Given the description of an element on the screen output the (x, y) to click on. 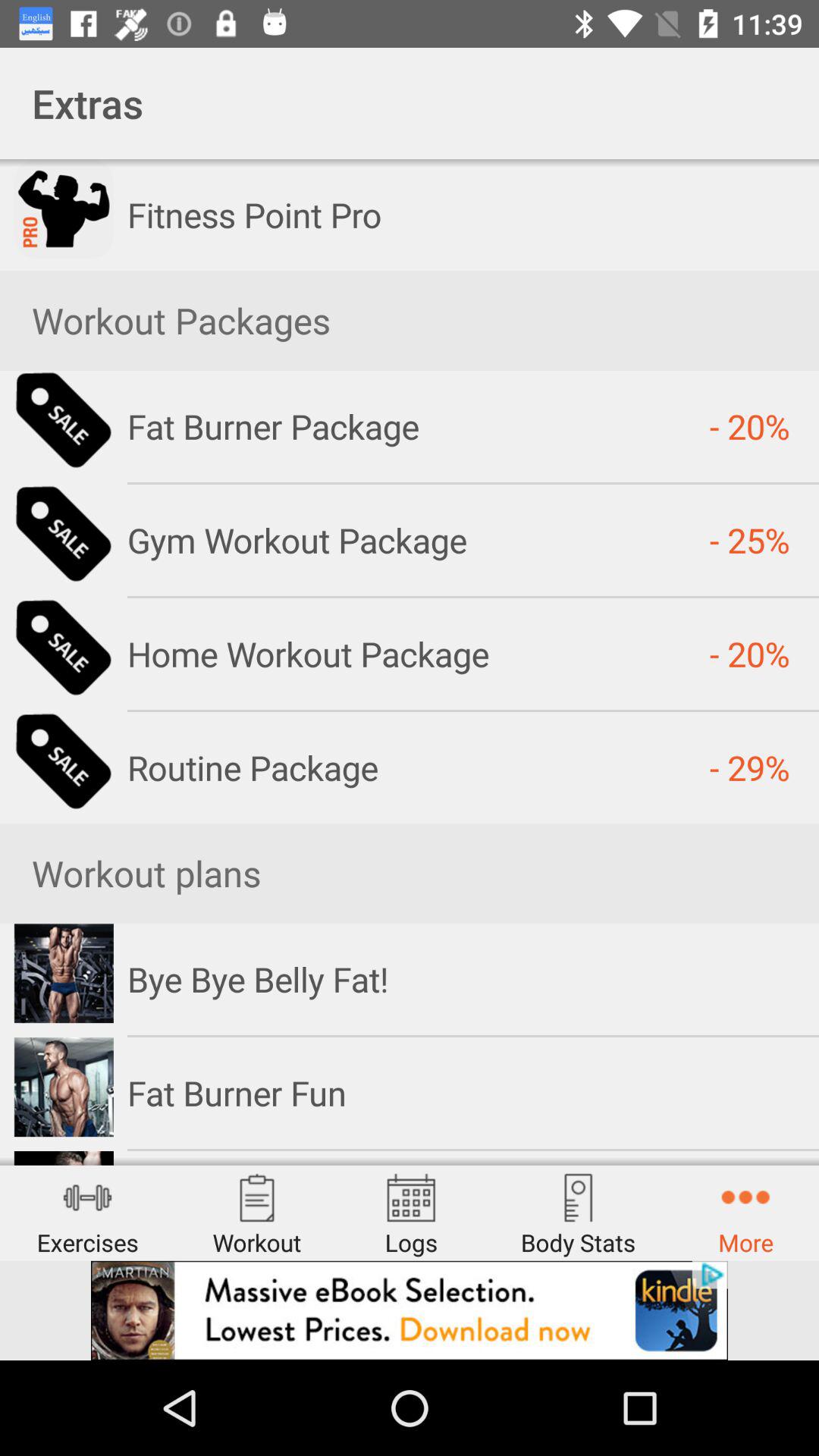
open advertisement (409, 1310)
